Given the description of an element on the screen output the (x, y) to click on. 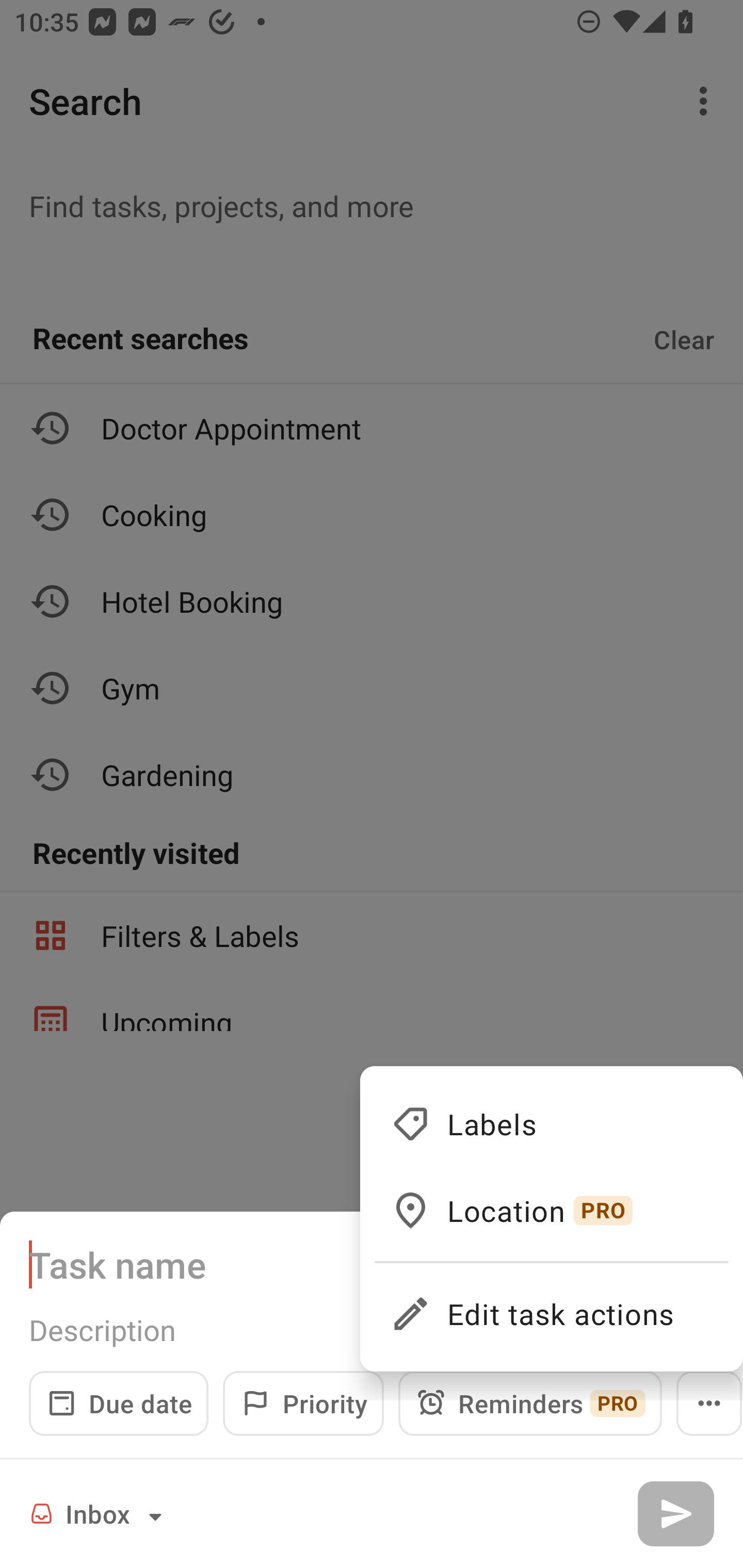
Labels (551, 1123)
Location PRO (551, 1210)
Edit task actions (551, 1305)
